Given the description of an element on the screen output the (x, y) to click on. 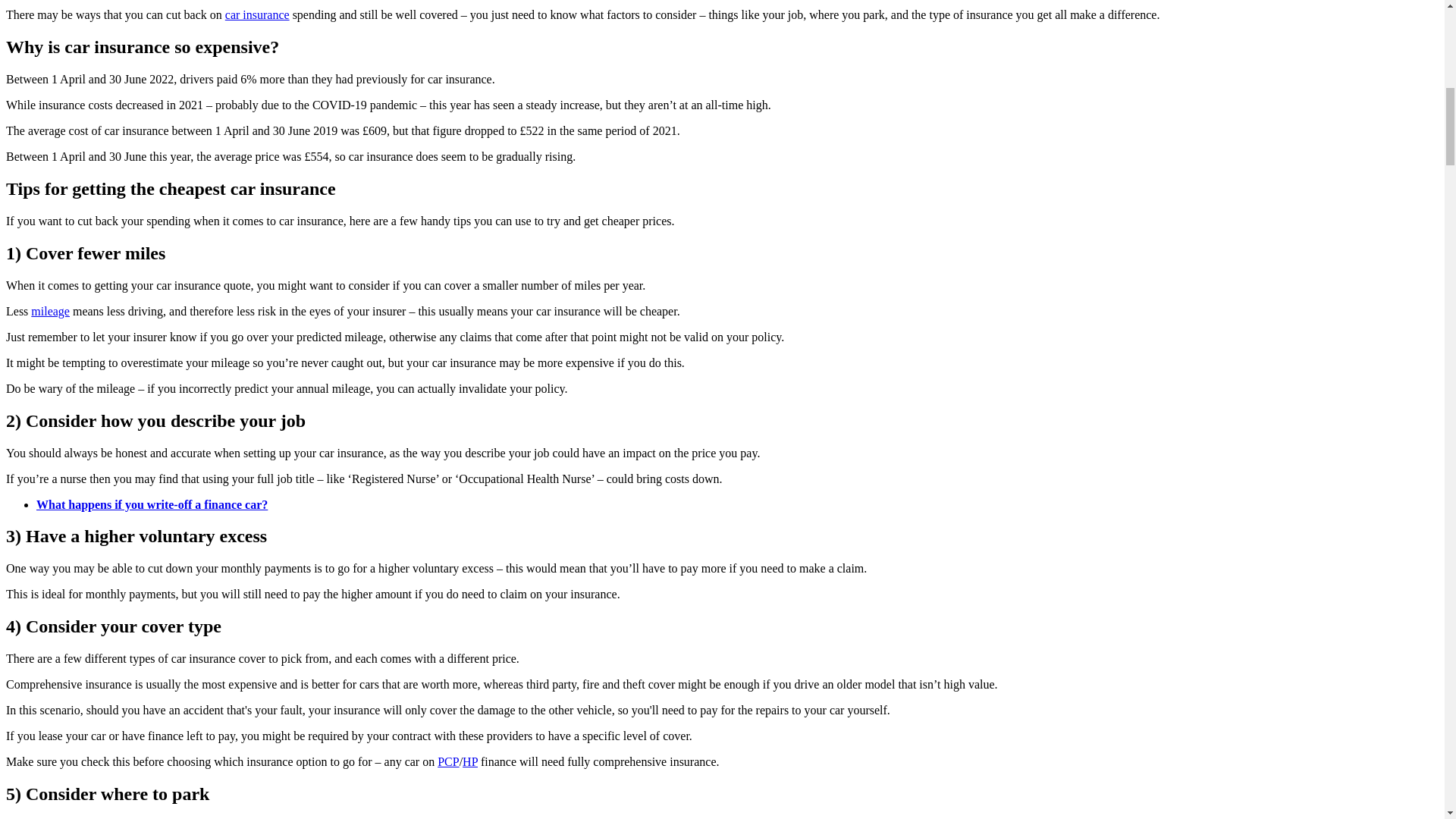
What happens if you write-off a finance car? (151, 503)
mileage (49, 310)
HP (470, 761)
PCP (448, 761)
car insurance (257, 14)
